Given the description of an element on the screen output the (x, y) to click on. 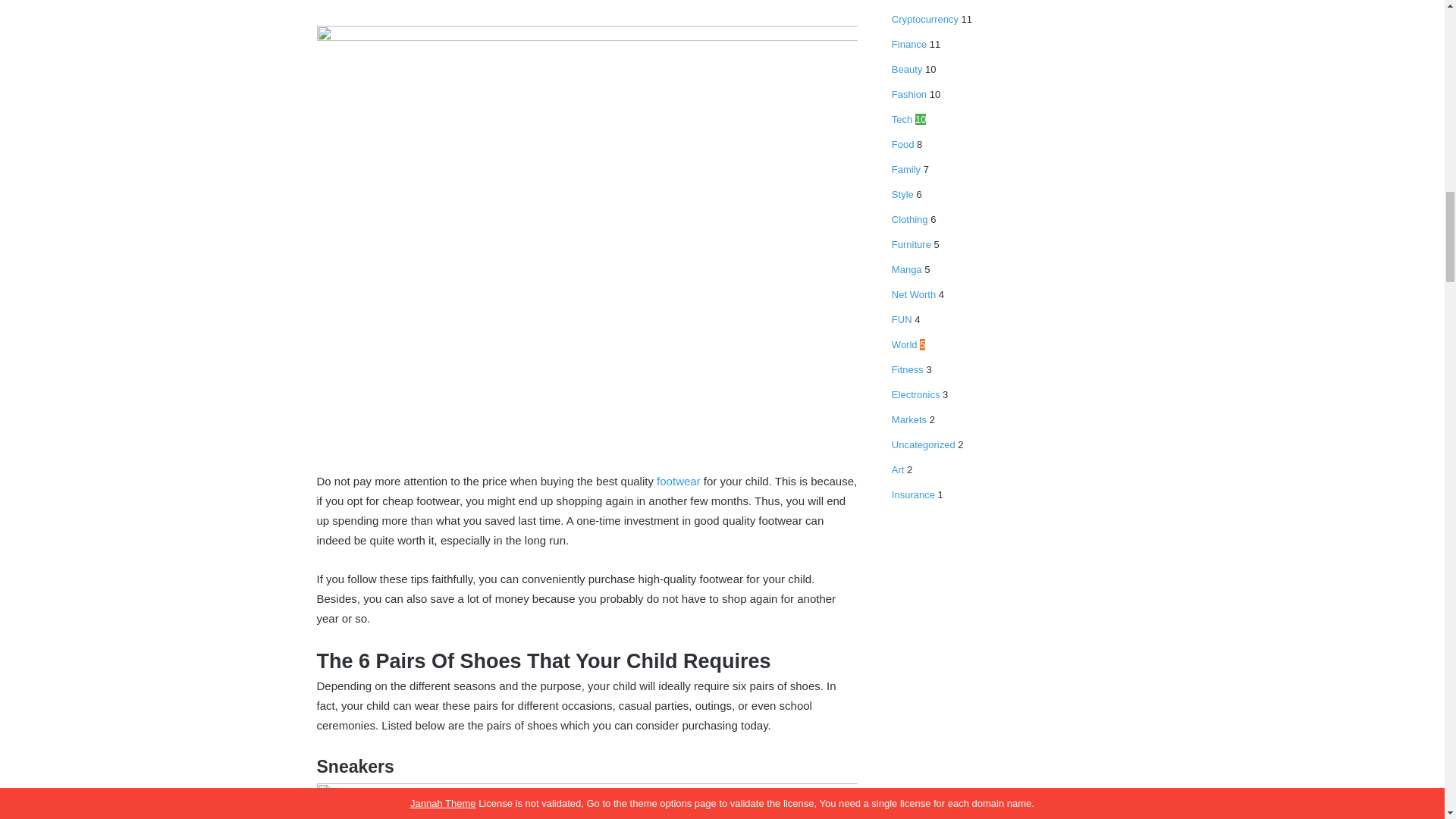
footwear (678, 481)
